Given the description of an element on the screen output the (x, y) to click on. 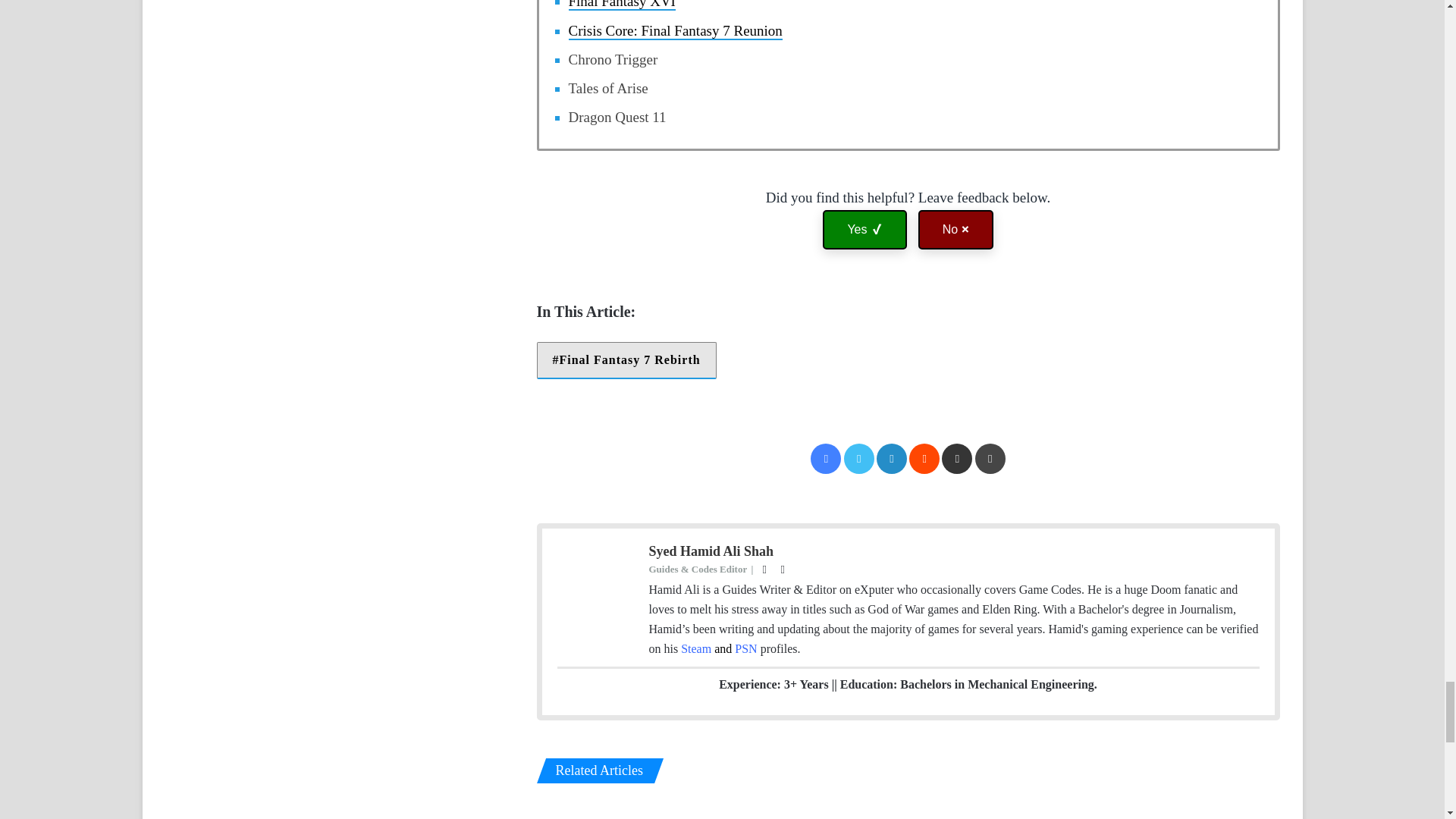
Twitter (859, 458)
LinkedIn (891, 458)
Facebook (825, 458)
